Given the description of an element on the screen output the (x, y) to click on. 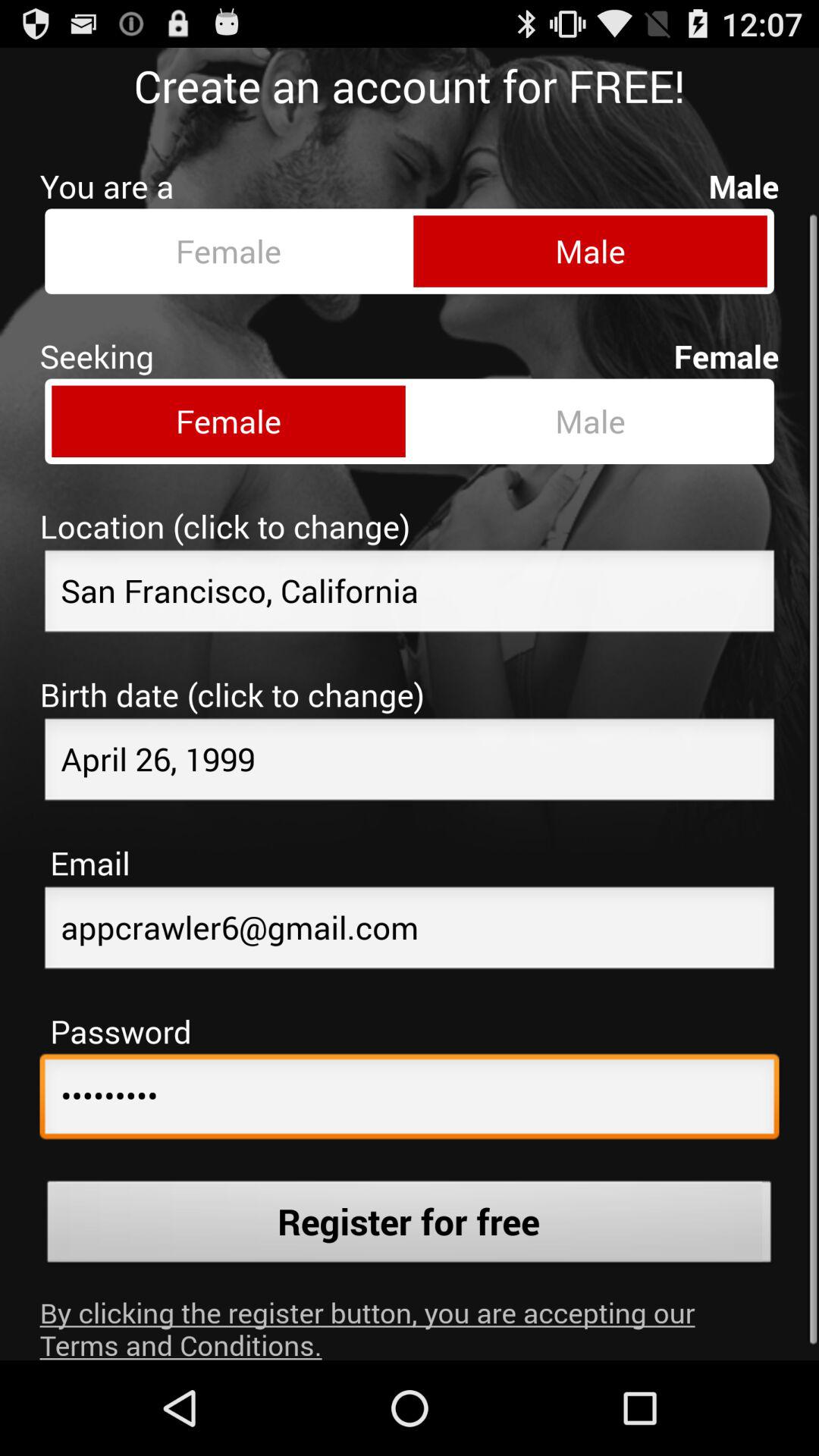
enter birth date (409, 749)
